Given the description of an element on the screen output the (x, y) to click on. 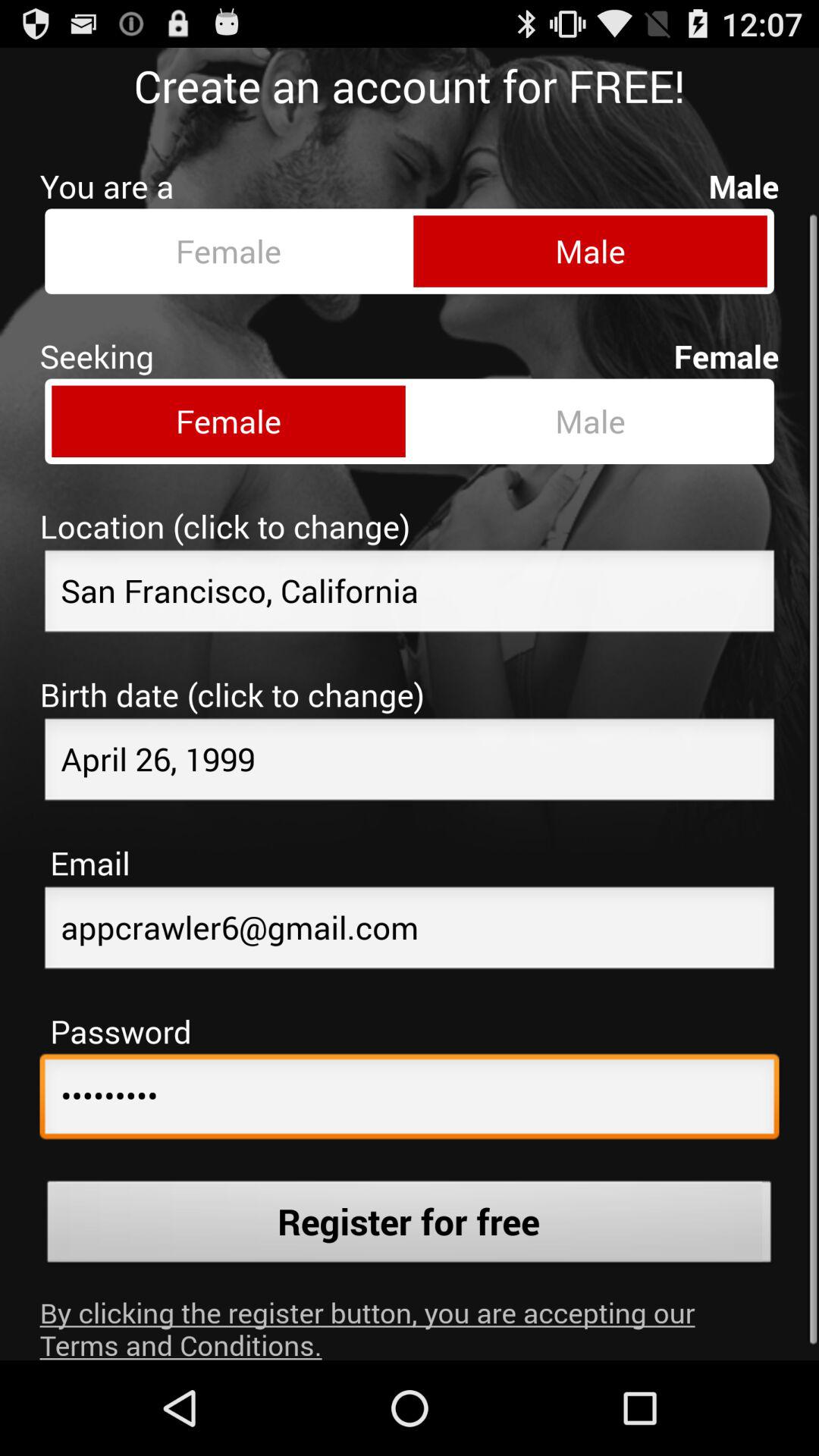
enter birth date (409, 749)
